Given the description of an element on the screen output the (x, y) to click on. 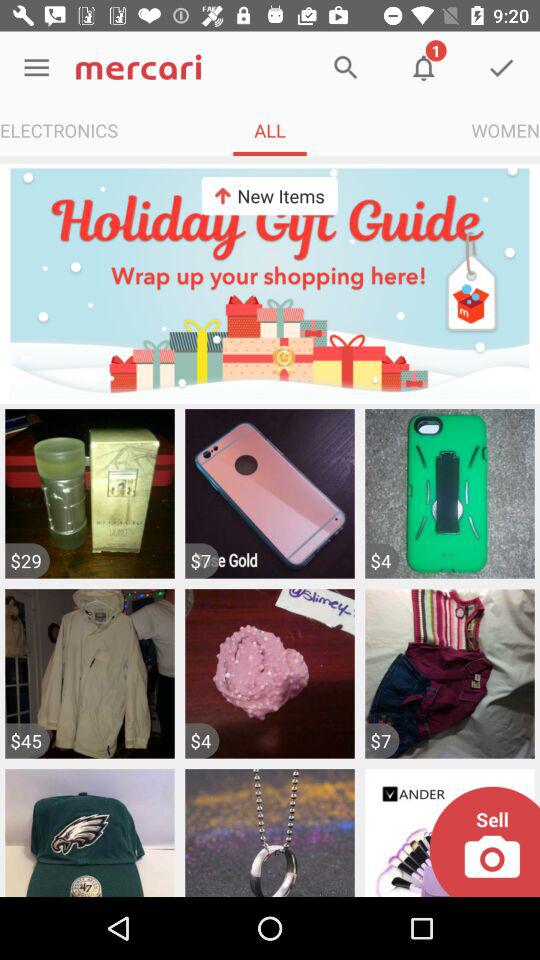
choose the women app (505, 130)
